Given the description of an element on the screen output the (x, y) to click on. 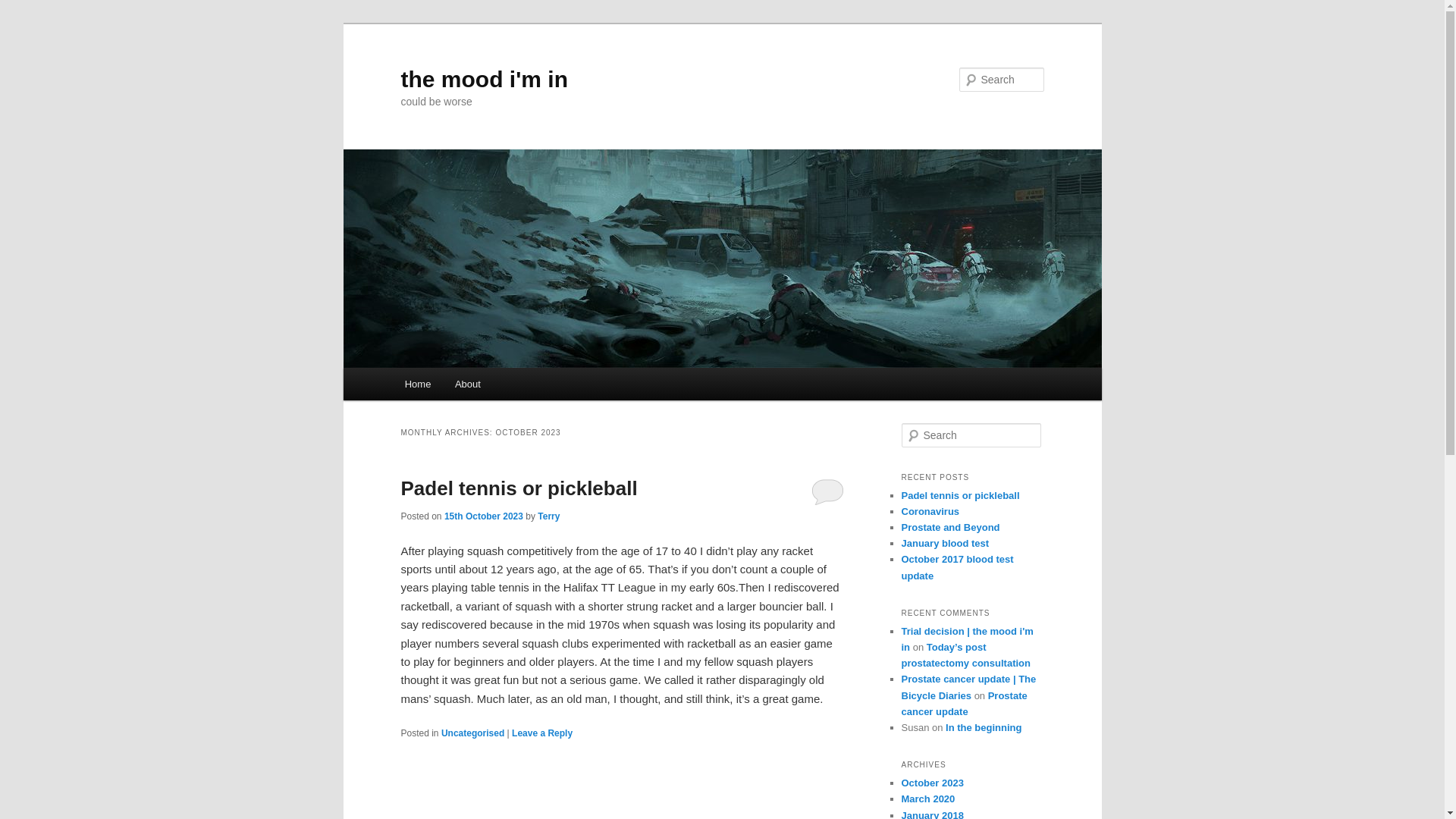
Coronavirus (930, 511)
January 2018 (931, 814)
Uncategorised (472, 733)
Terry (548, 516)
March 2020 (928, 798)
Prostate and Beyond (949, 527)
Padel tennis or pickleball (960, 495)
Leave a Reply (542, 733)
Home (417, 383)
October 2017 blood test update (957, 566)
Search (24, 8)
Padel tennis or pickleball (518, 487)
January blood test (944, 542)
the mood i'm in (483, 78)
